Given the description of an element on the screen output the (x, y) to click on. 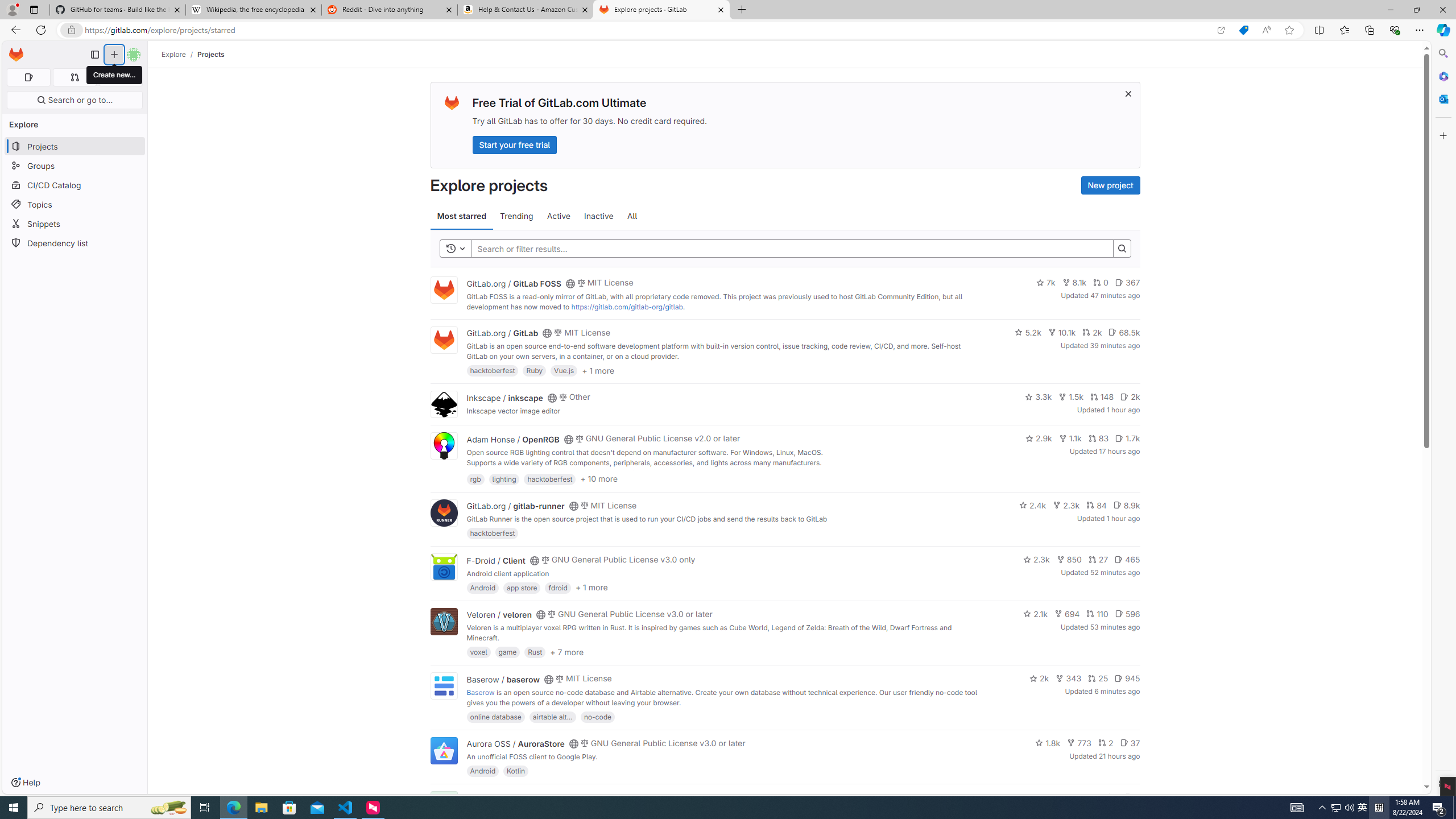
596 (1127, 613)
Dependency list (74, 242)
F-Droid / Client (495, 560)
Ruby (533, 370)
2.3k (1035, 559)
Snippets (74, 223)
Create new... (113, 54)
37 (1129, 742)
All (632, 216)
